Given the description of an element on the screen output the (x, y) to click on. 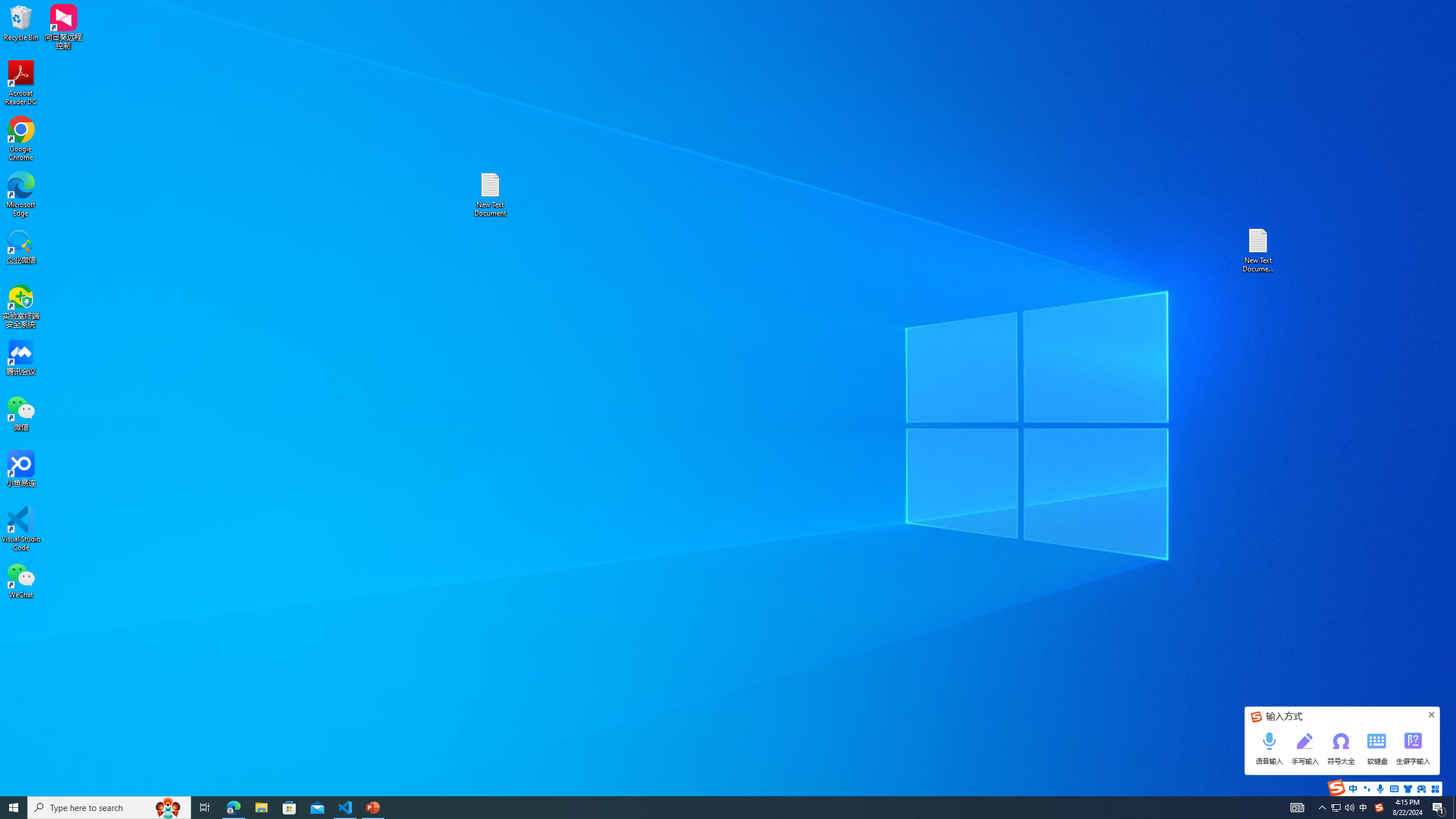
Acrobat Reader DC (21, 82)
New Text Document (489, 194)
